Given the description of an element on the screen output the (x, y) to click on. 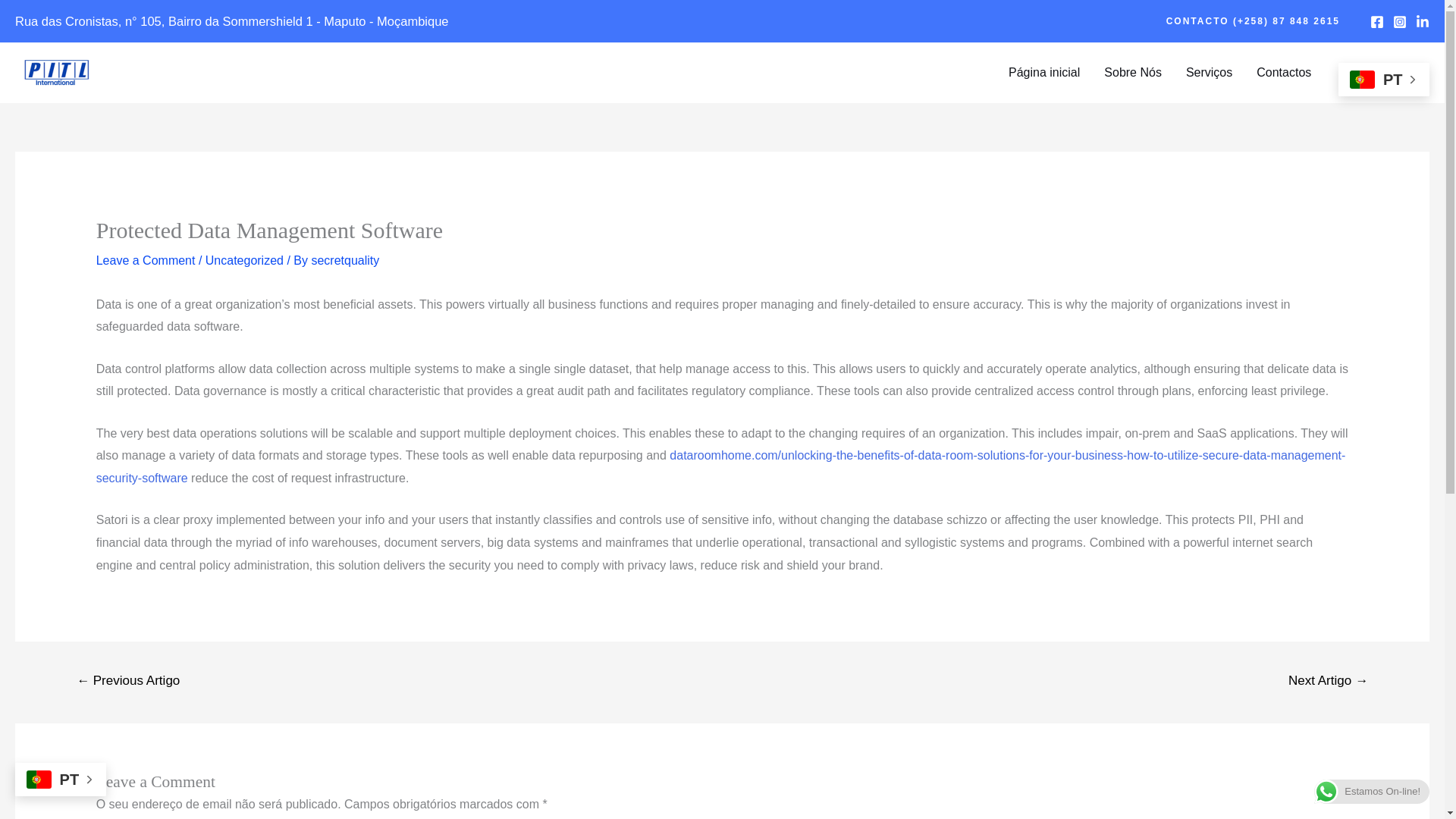
Uncategorized (244, 259)
secretquality (344, 259)
Leave a Comment (145, 259)
View all posts by secretquality (344, 259)
Contactos (1283, 72)
